Given the description of an element on the screen output the (x, y) to click on. 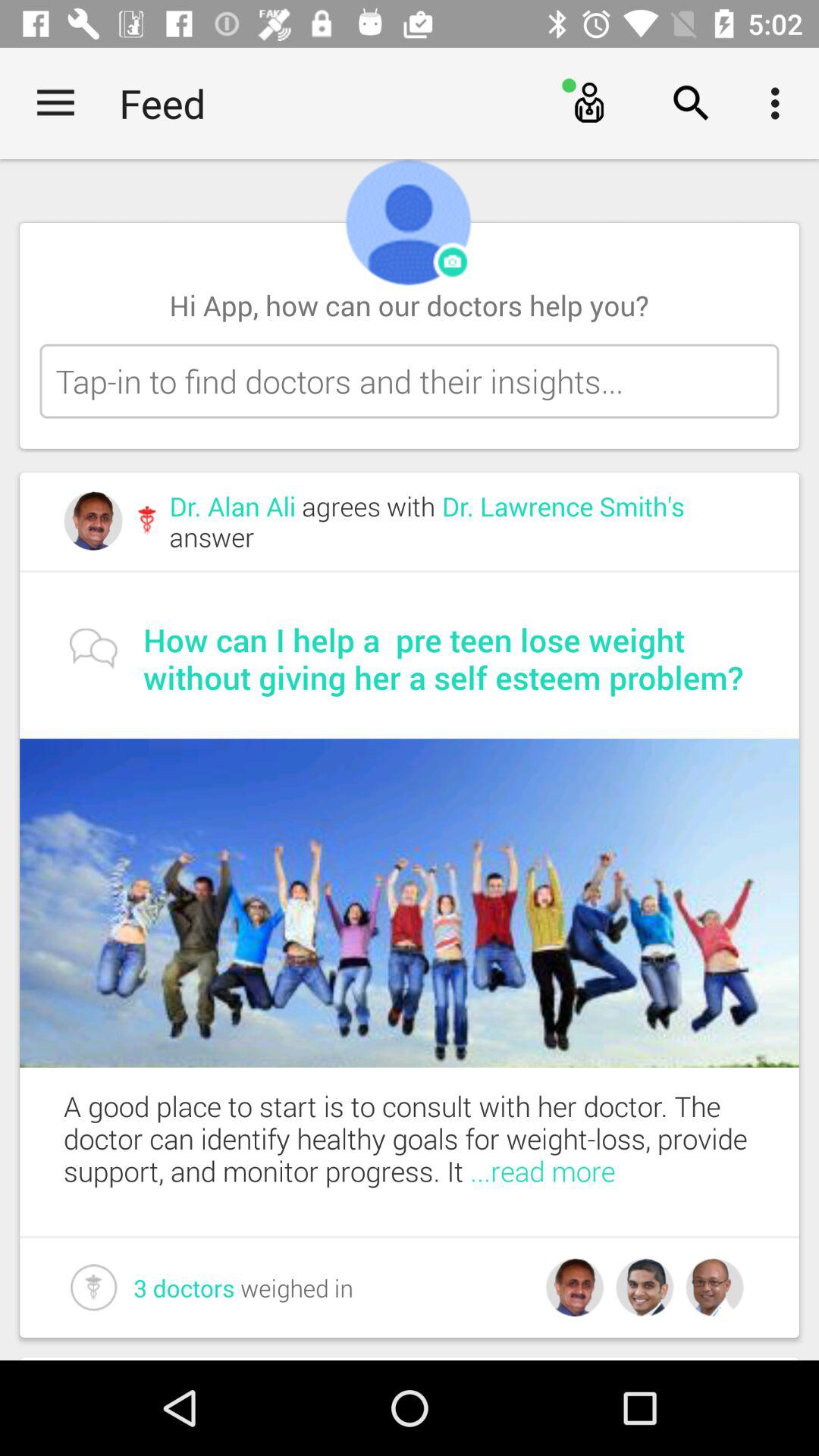
launch a good place item (431, 1138)
